Given the description of an element on the screen output the (x, y) to click on. 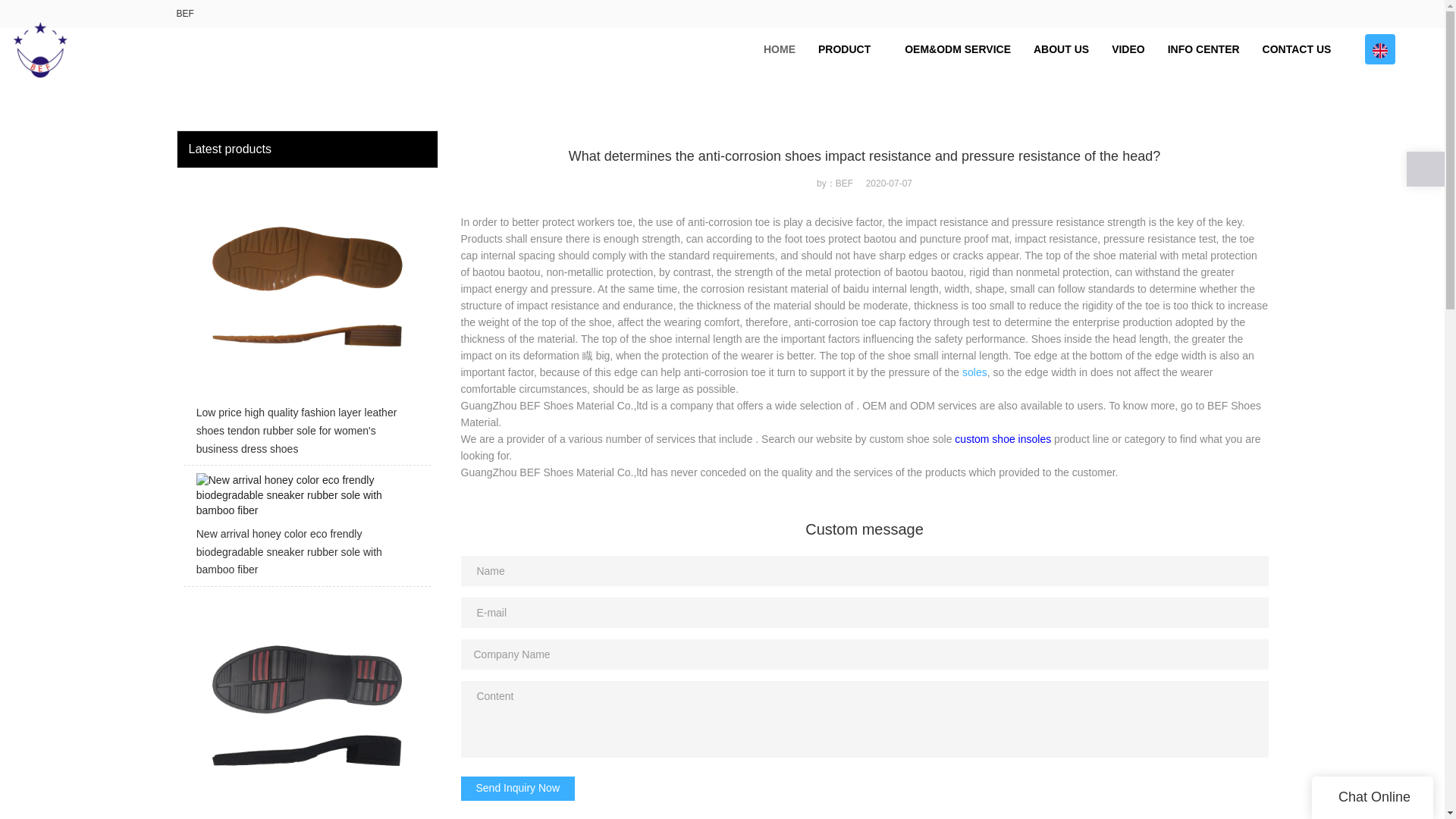
Send Inquiry Now (518, 788)
soles (974, 372)
BEF (184, 13)
Super ice non slip rubber sole for woman fashion shoes (306, 706)
ABOUT US (1061, 49)
custom shoe insoles (1003, 439)
PRODUCT (849, 49)
INFO CENTER (1203, 49)
CONTACT US (1296, 49)
